Given the description of an element on the screen output the (x, y) to click on. 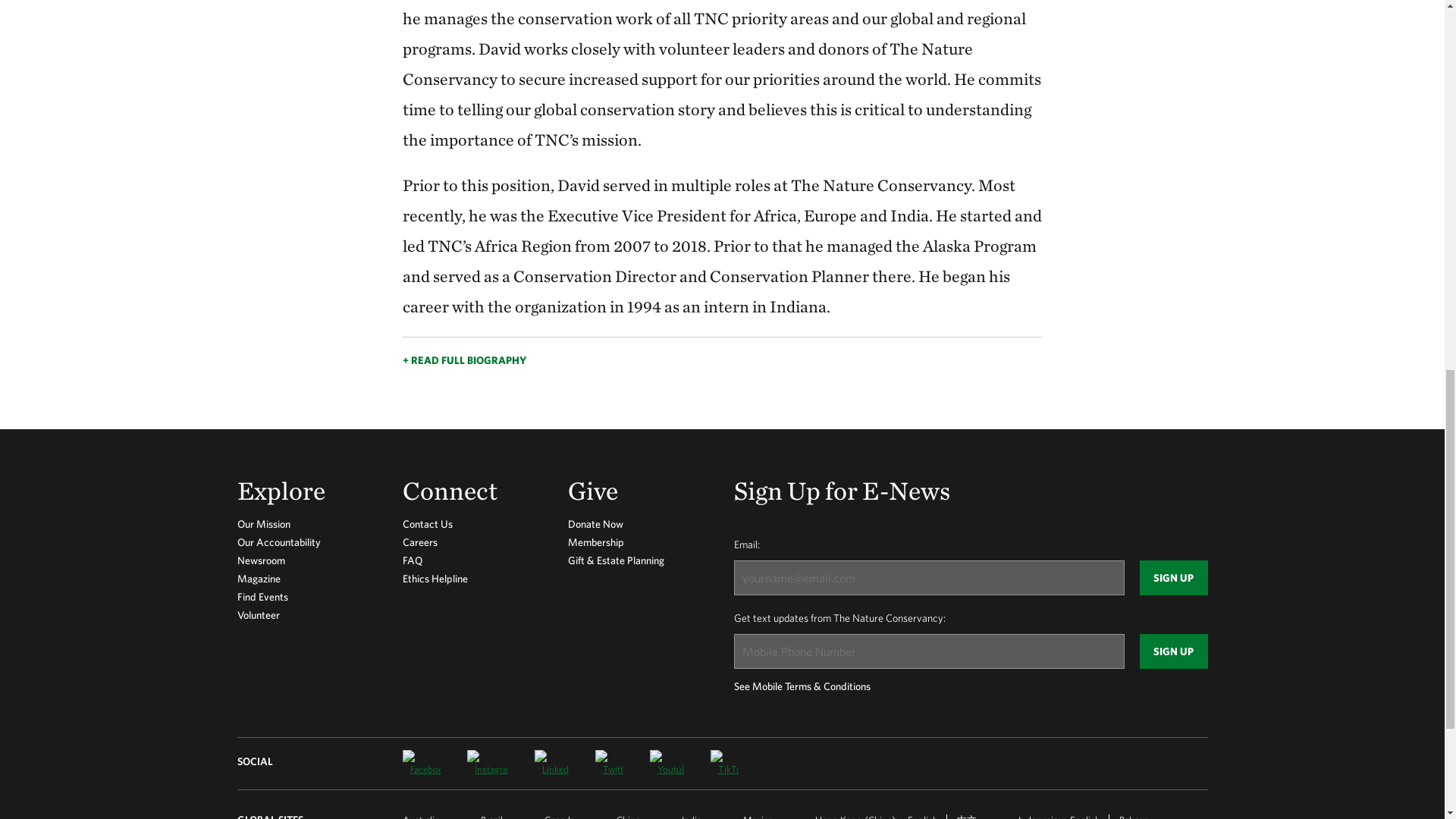
more (722, 352)
